Given the description of an element on the screen output the (x, y) to click on. 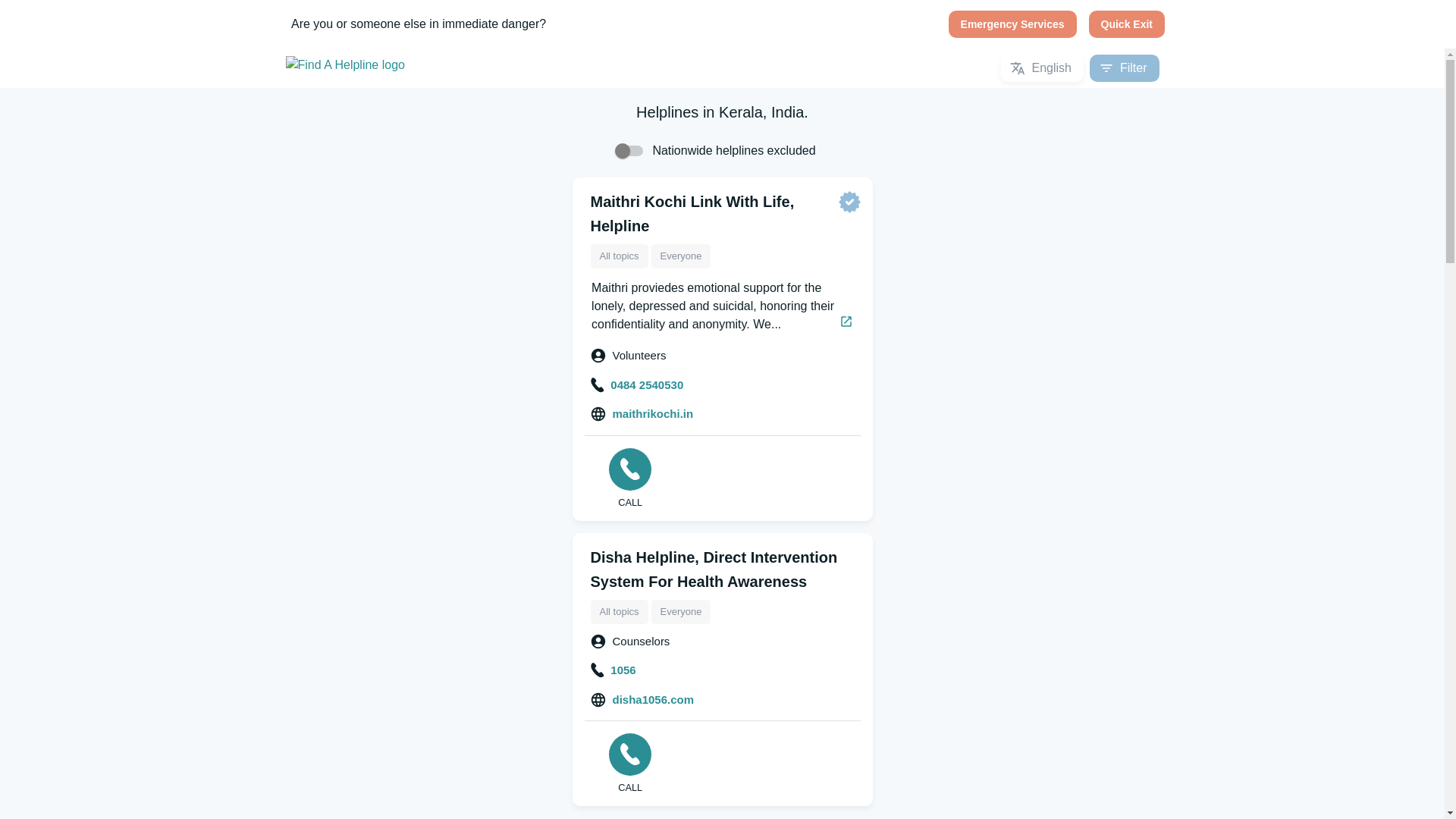
Quick Exit (1126, 24)
Counselors (630, 641)
Filter (1123, 67)
English (1042, 67)
Emergency Services (1013, 24)
0484 2540530 (637, 384)
disha1056.com (642, 699)
1056 (613, 670)
maithrikochi.in (642, 414)
